Given the description of an element on the screen output the (x, y) to click on. 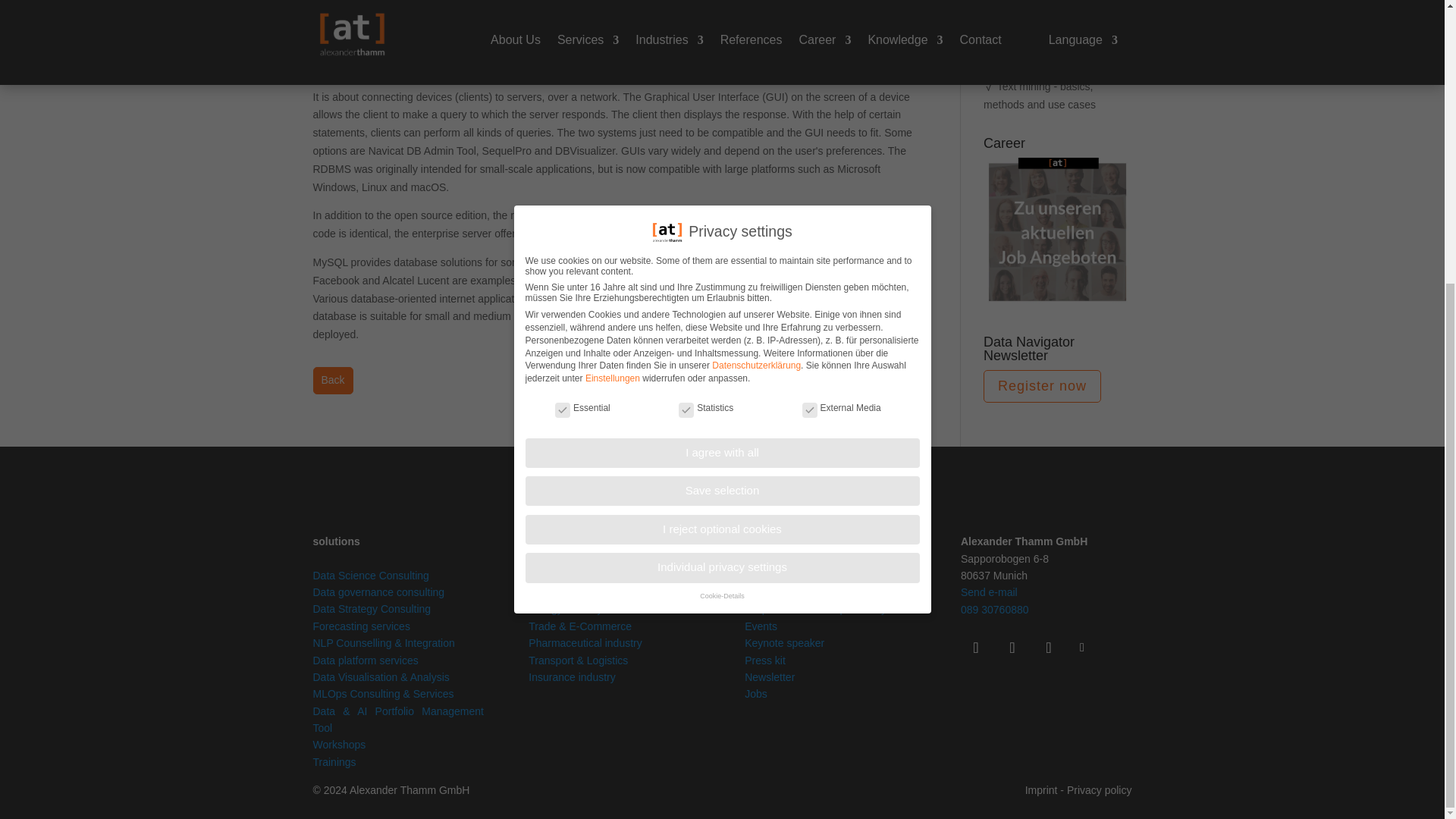
Casebase: Use Case Innovation and Management Platform (398, 719)
Follow on GitHub (1082, 647)
Follow on LinkedIn (975, 647)
Follow on Instagram (1012, 647)
advertisement (1057, 302)
Follow on Youtube (1048, 647)
climate-neutral company (1046, 715)
